Given the description of an element on the screen output the (x, y) to click on. 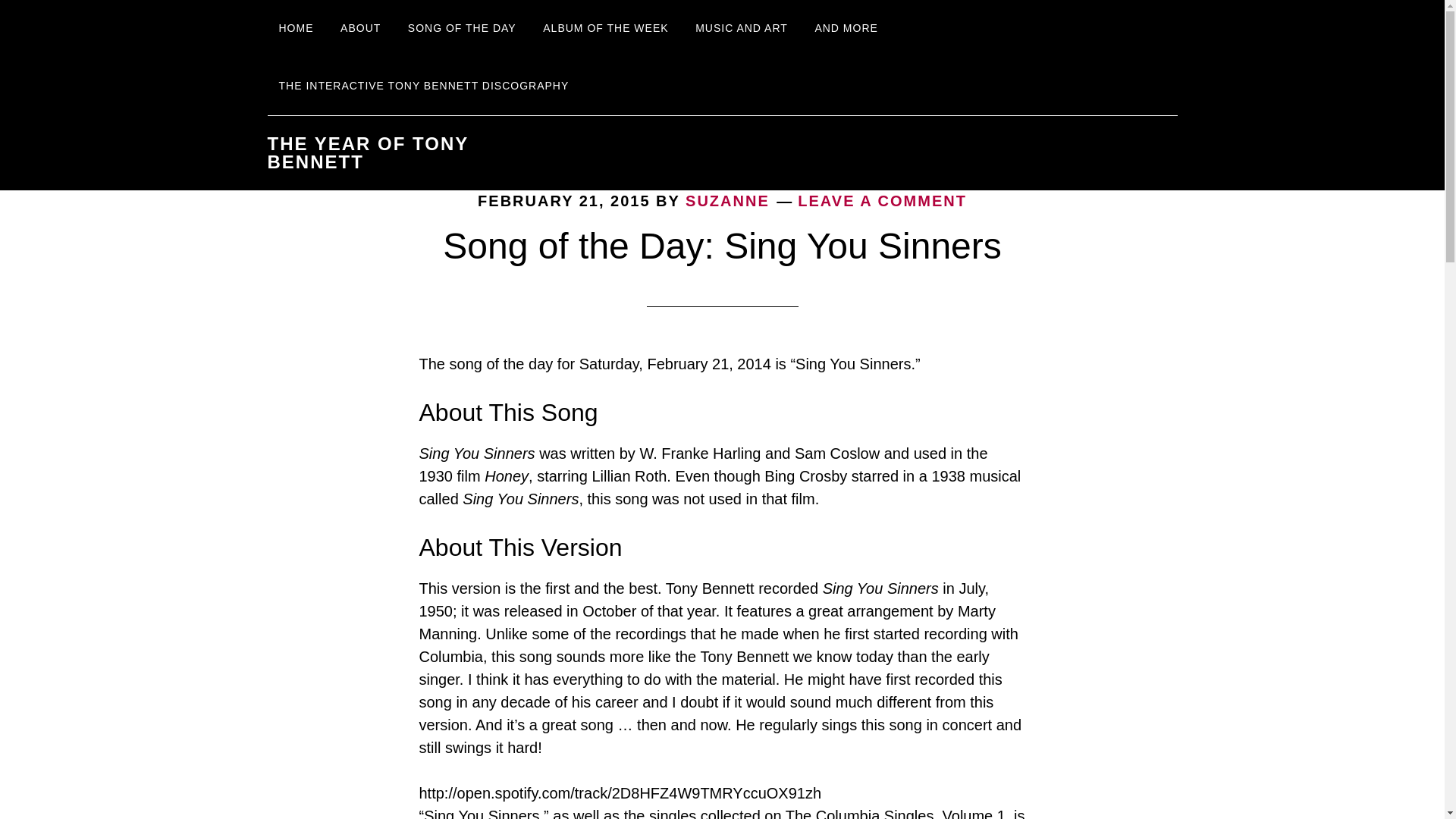
LEAVE A COMMENT (881, 200)
ALBUM OF THE WEEK (605, 28)
ABOUT (360, 28)
SUZANNE (727, 200)
THE INTERACTIVE TONY BENNETT DISCOGRAPHY (422, 86)
AND MORE (845, 28)
THE YEAR OF TONY BENNETT (366, 152)
SONG OF THE DAY (461, 28)
HOME (295, 28)
MUSIC AND ART (741, 28)
